Given the description of an element on the screen output the (x, y) to click on. 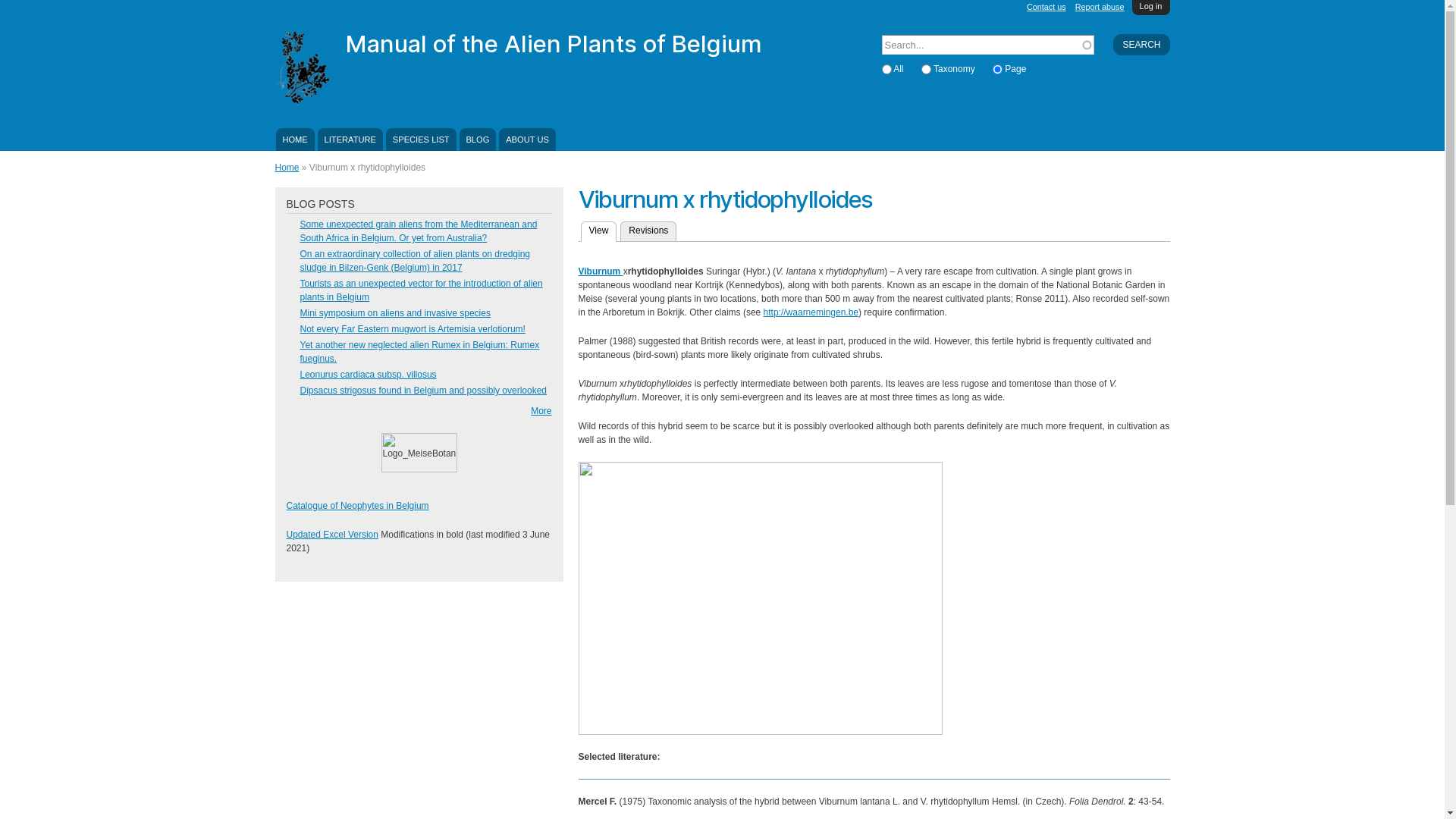
Viburnum Element type: text (599, 271)
Catalogue of Neophytes in Belgium Element type: text (357, 505)
Enter the terms you wish to search for. Element type: hover (987, 44)
Home Element type: text (286, 167)
Not every Far Eastern mugwort is Artemisia verlotiorum! Element type: text (412, 328)
Manual of the Alien Plants of Belgium Element type: hover (301, 98)
Skip to main content Element type: text (696, 1)
Report abuse Element type: text (1099, 6)
Dipsacus strigosus found in Belgium and possibly overlooked Element type: text (423, 390)
SPECIES LIST Element type: text (420, 139)
Revisions Element type: text (648, 231)
HOME Element type: text (295, 139)
Log in Element type: text (1151, 7)
Logo_MeiseBotanicGarden_rgb.jpg Element type: hover (418, 452)
Search Element type: text (1141, 44)
Leonurus cardiaca subsp. villosus Element type: text (368, 374)
BLOG Element type: text (477, 139)
Manual of the Alien Plants of Belgium Element type: text (553, 43)
More Element type: text (540, 410)
Contact us Element type: text (1046, 6)
LITERATURE Element type: text (349, 139)
Mini symposium on aliens and invasive species Element type: text (395, 312)
View
(active tab) Element type: text (598, 231)
Updated Excel Version Element type: text (332, 534)
ABOUT US Element type: text (526, 139)
http://waarnemingen.be Element type: text (810, 312)
